Given the description of an element on the screen output the (x, y) to click on. 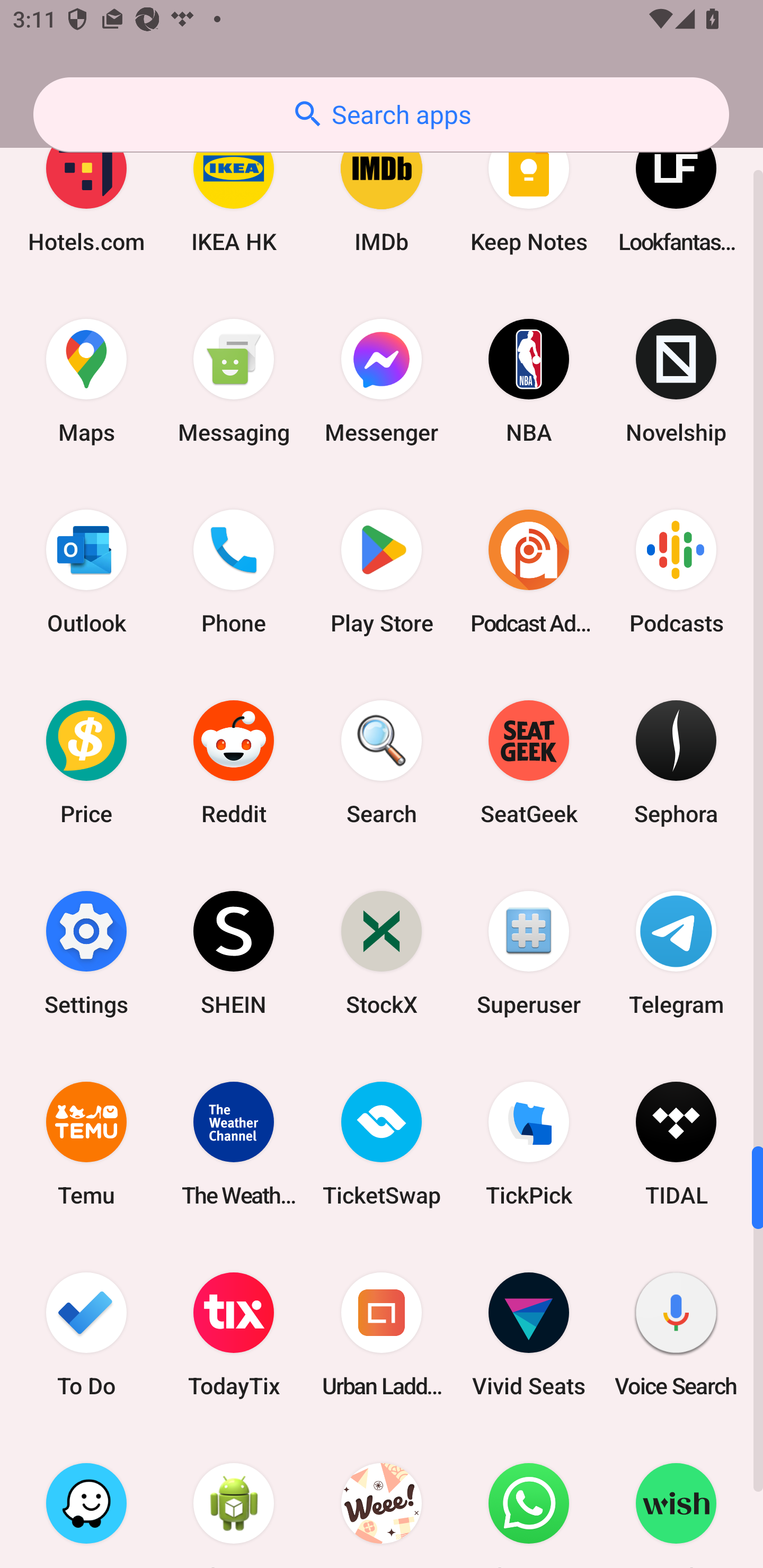
To Do (86, 1334)
